Given the description of an element on the screen output the (x, y) to click on. 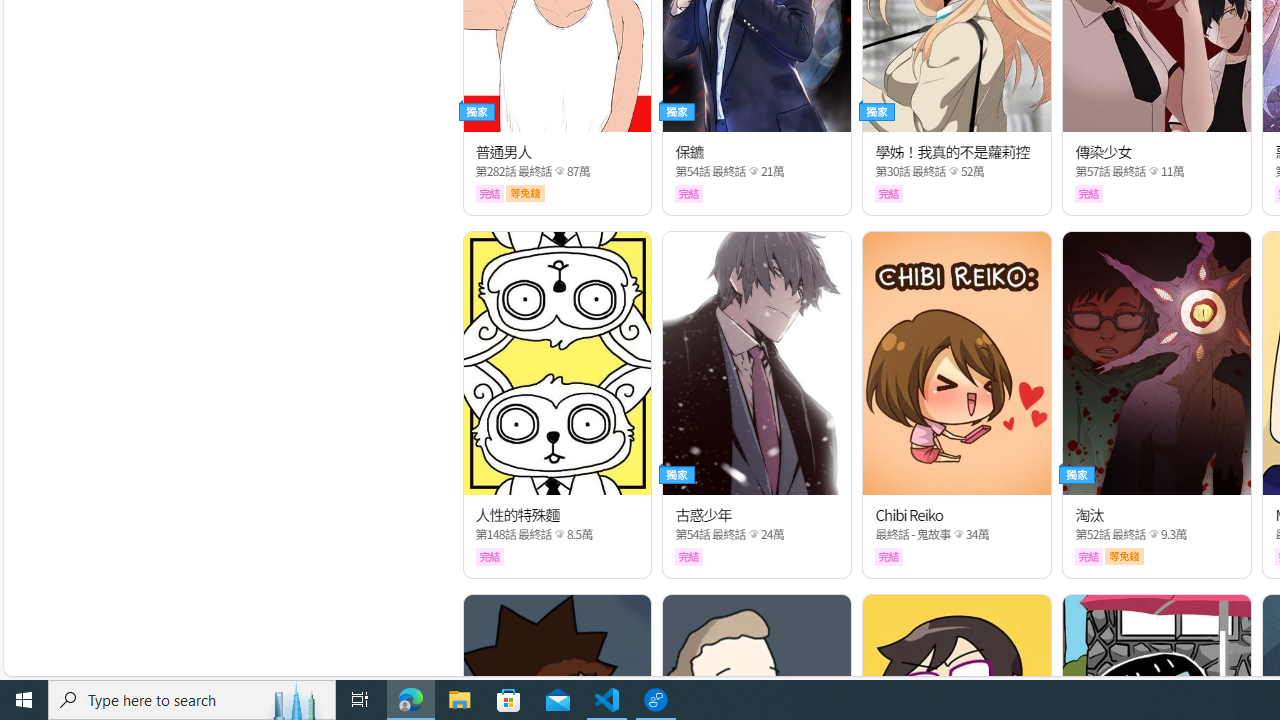
Class: epicon_starpoint (1153, 534)
Class: thumb_img (1156, 363)
